Given the description of an element on the screen output the (x, y) to click on. 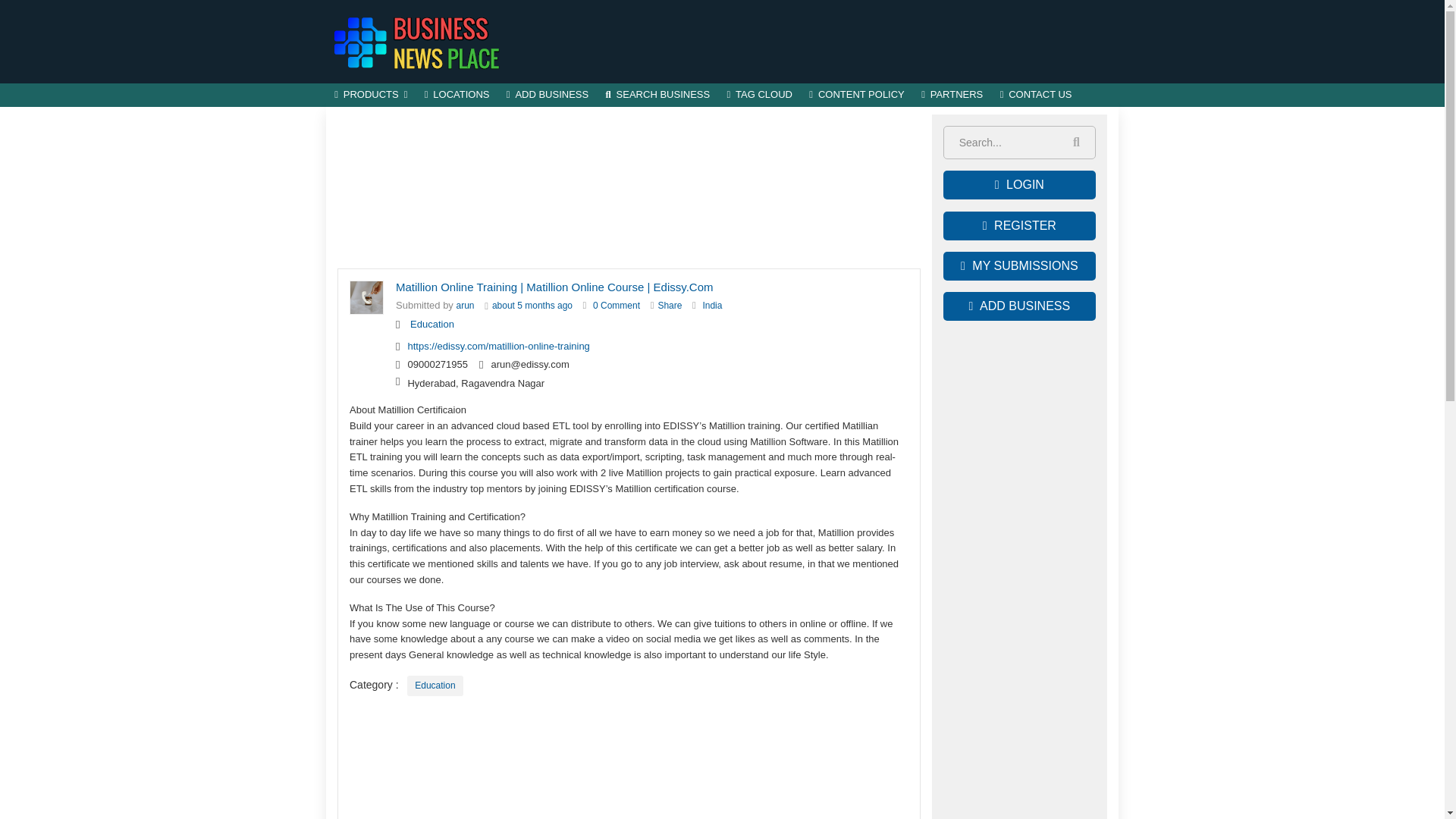
Share (669, 305)
LOCATIONS (456, 95)
India (711, 305)
Advertisement (628, 187)
Education (435, 685)
CONTENT POLICY (856, 95)
0 Comment (616, 305)
arunkrishna30 (465, 305)
TAG CLOUD (758, 95)
Education (432, 324)
CONTACT US (1035, 95)
SEARCH BUSINESS (656, 95)
MY SUBMISSIONS (1019, 265)
PARTNERS (951, 95)
